Given the description of an element on the screen output the (x, y) to click on. 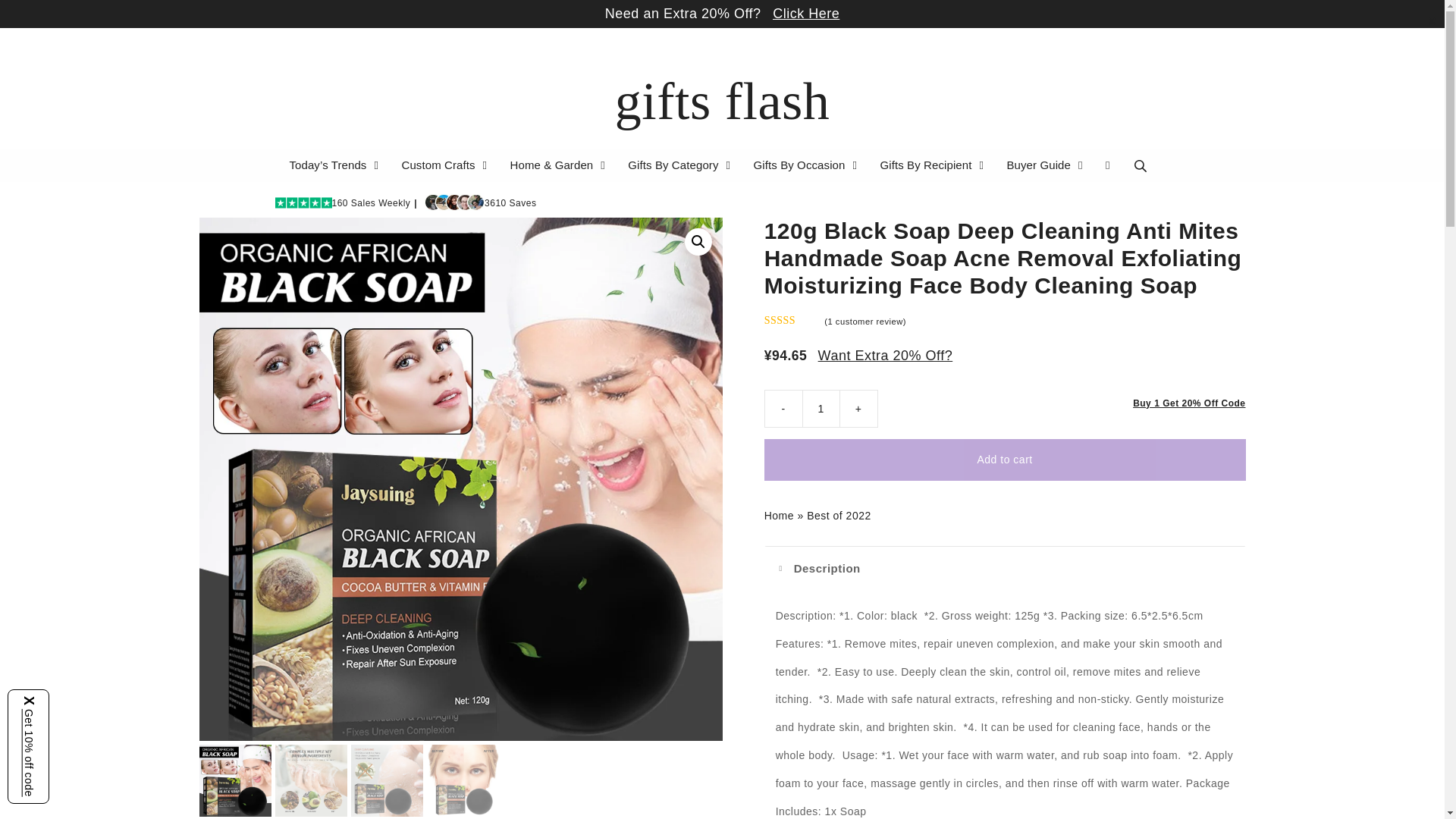
gifts flash (721, 101)
Custom Crafts (445, 164)
1 (821, 408)
Rated 5.00 out of 5 (793, 320)
Click Here (806, 13)
